Given the description of an element on the screen output the (x, y) to click on. 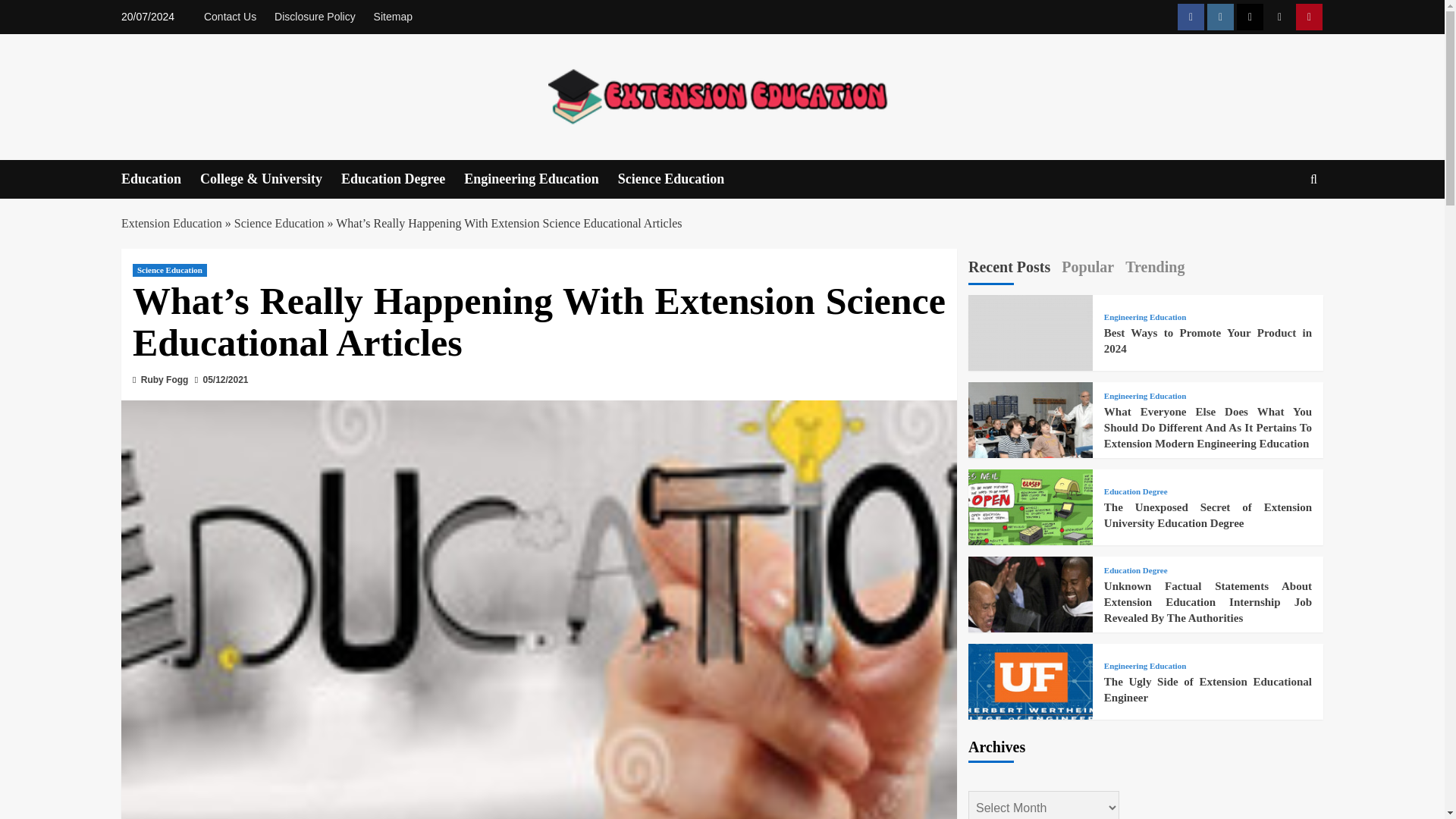
Science Education (169, 269)
Facebook (1190, 17)
Pinterest (1308, 17)
Twitter (1249, 17)
The Ugly Side of Extension Educational Engineer (1030, 705)
Sitemap (393, 17)
Search (1278, 226)
Extension Education (171, 223)
Instagram (1220, 17)
Education Degree (402, 179)
Science Education (680, 179)
Education (160, 179)
